Given the description of an element on the screen output the (x, y) to click on. 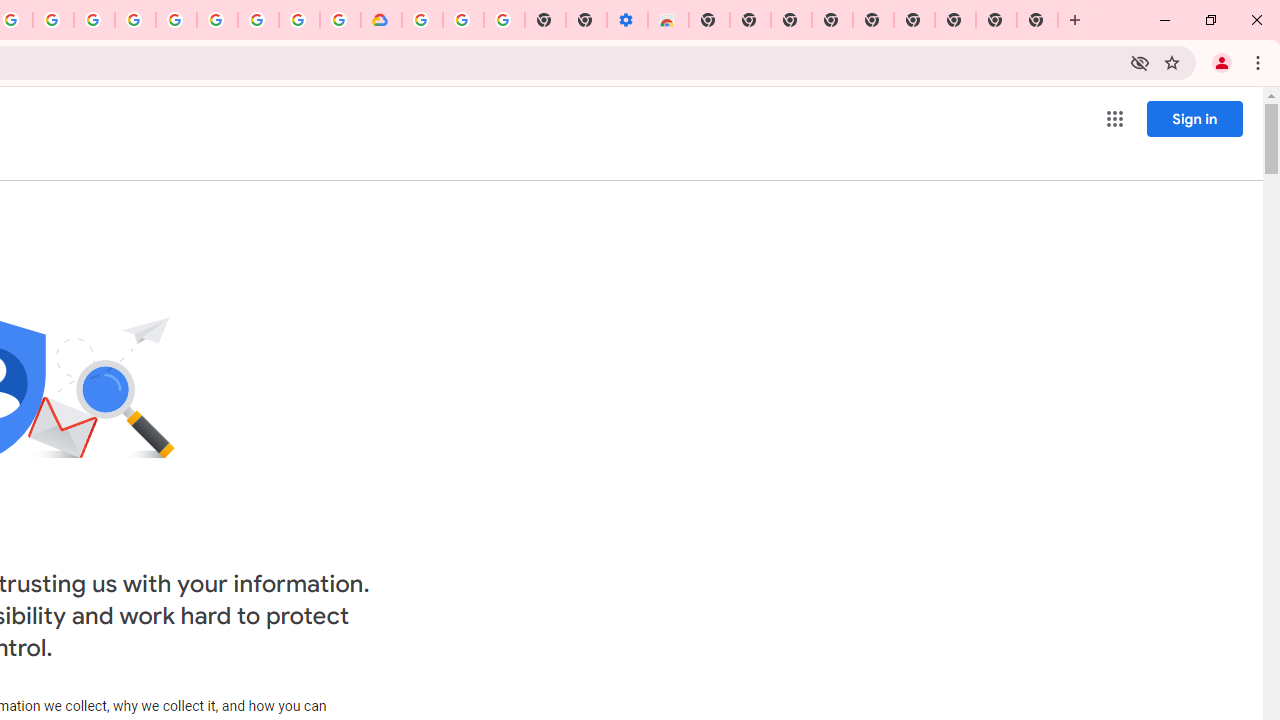
Create your Google Account (53, 20)
New Tab (1037, 20)
Chrome Web Store - Accessibility extensions (667, 20)
Ad Settings (135, 20)
Turn cookies on or off - Computer - Google Account Help (503, 20)
Browse the Google Chrome Community - Google Chrome Community (340, 20)
Create your Google Account (299, 20)
Sign in - Google Accounts (176, 20)
Sign in - Google Accounts (421, 20)
